Given the description of an element on the screen output the (x, y) to click on. 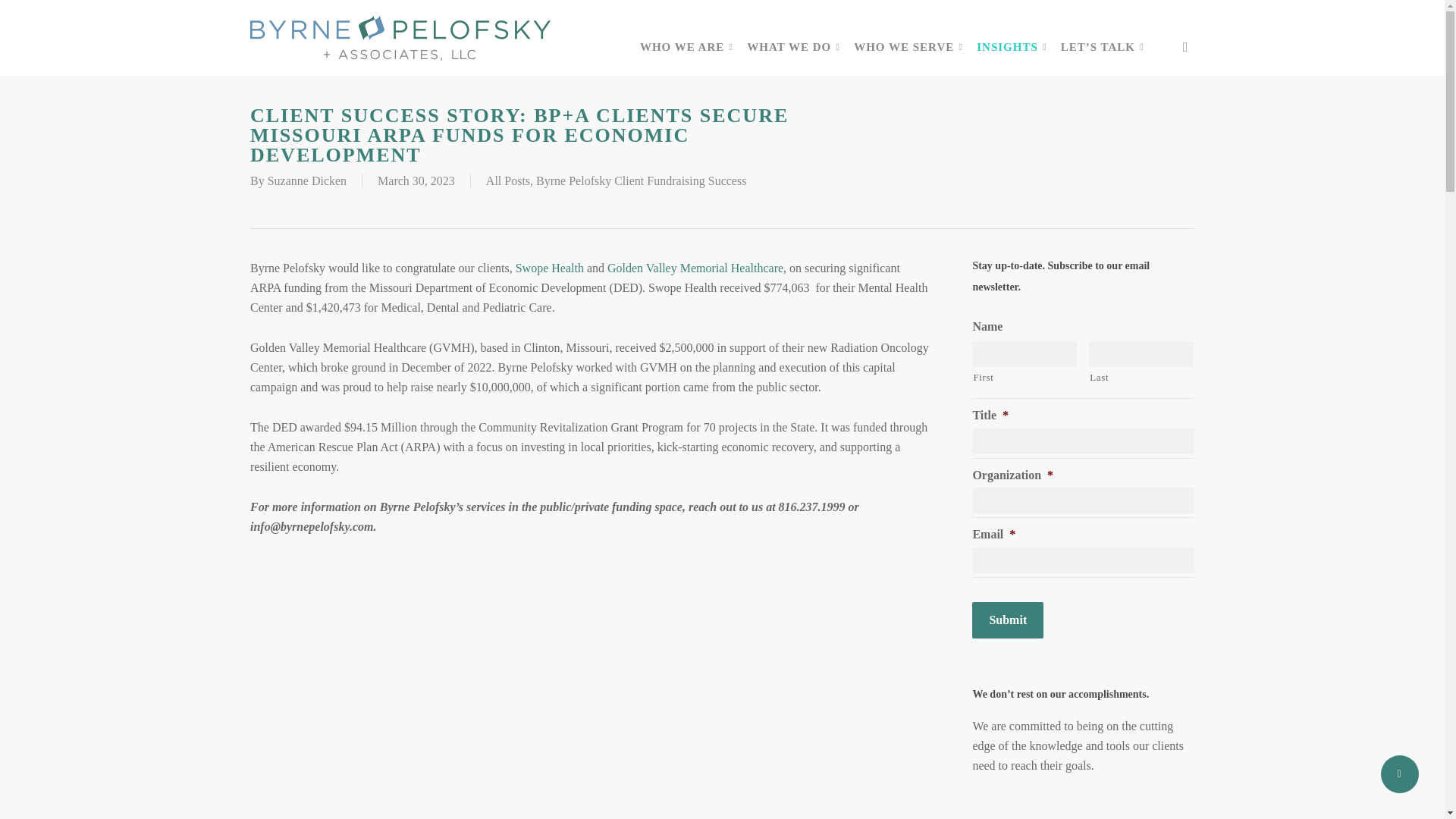
Submit (1007, 619)
search (1184, 46)
WHAT WE DO (792, 46)
INSIGHTS (1010, 46)
WHO WE ARE (685, 46)
Swope Health (549, 267)
Posts by Suzanne Dicken (306, 180)
All Posts (507, 180)
Suzanne Dicken (306, 180)
WHO WE SERVE (907, 46)
